Given the description of an element on the screen output the (x, y) to click on. 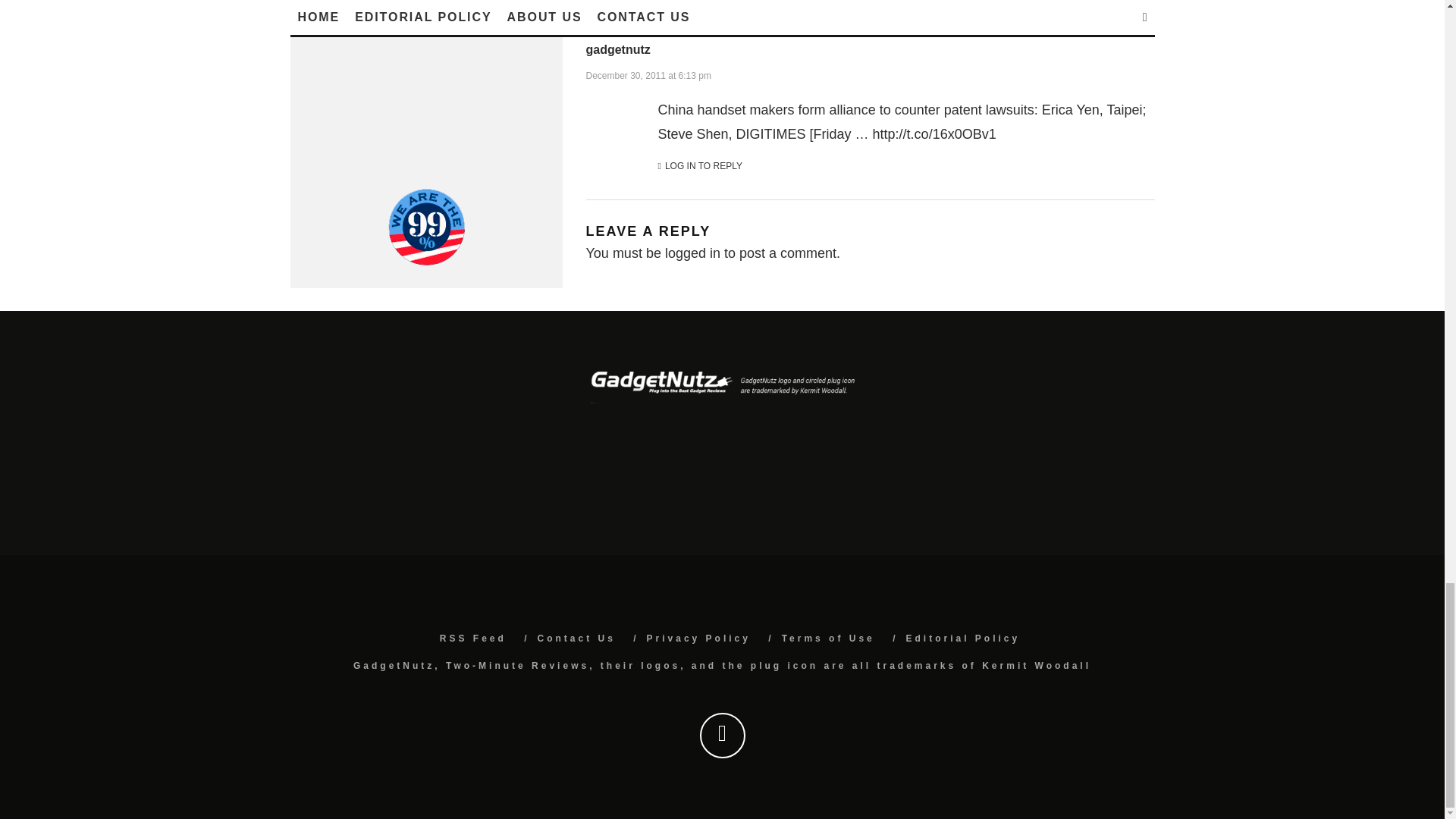
Logo (721, 387)
LOG IN TO REPLY (700, 166)
logged in (692, 253)
December 30, 2011 at 6:13 pm (647, 73)
gadgetnutz (617, 49)
